Given the description of an element on the screen output the (x, y) to click on. 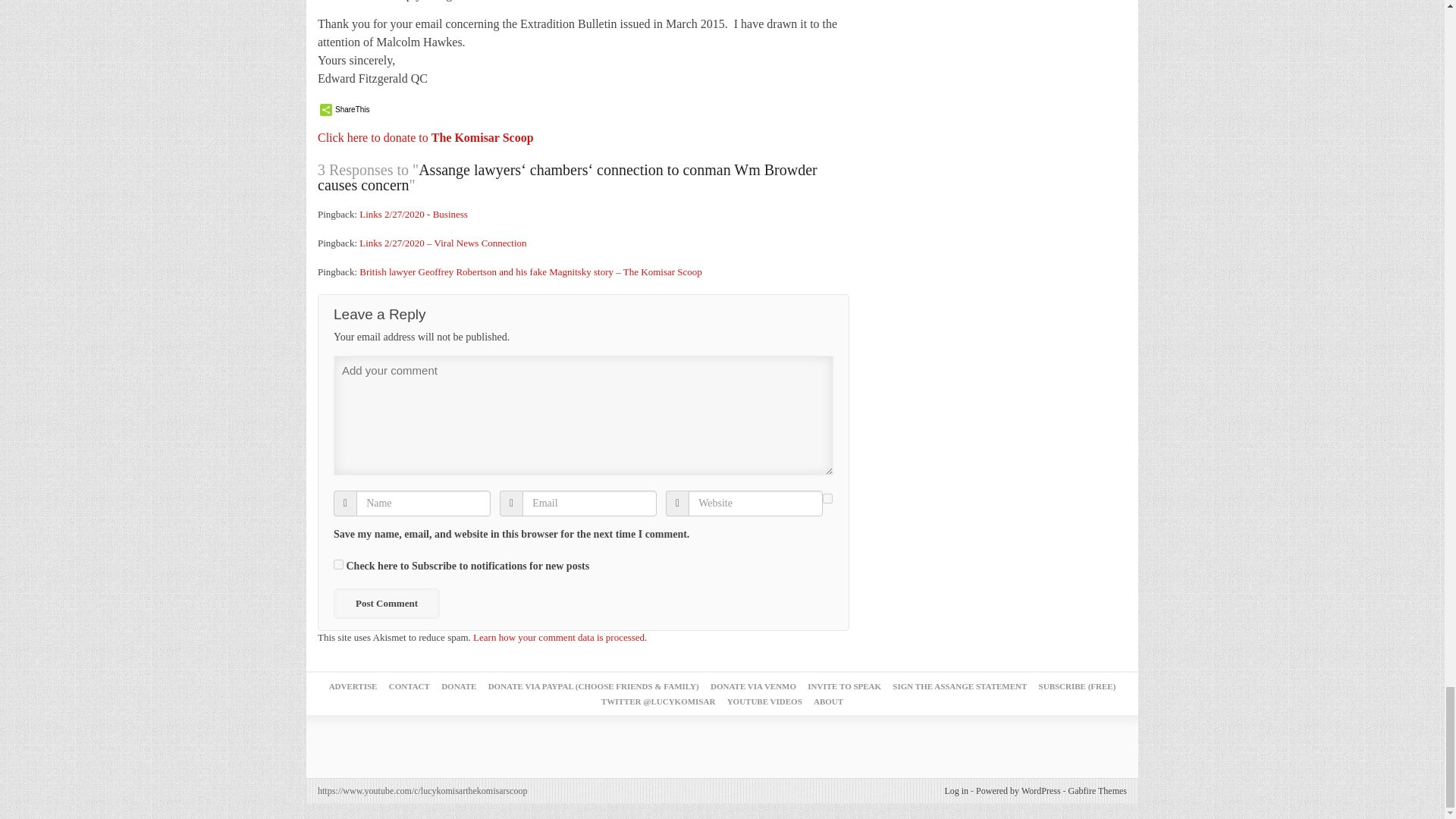
Post Comment (386, 603)
yes (827, 498)
WordPress Newspaper Themes (1097, 790)
1 (338, 564)
Semantic Personal Publishing Platform (1017, 790)
